Given the description of an element on the screen output the (x, y) to click on. 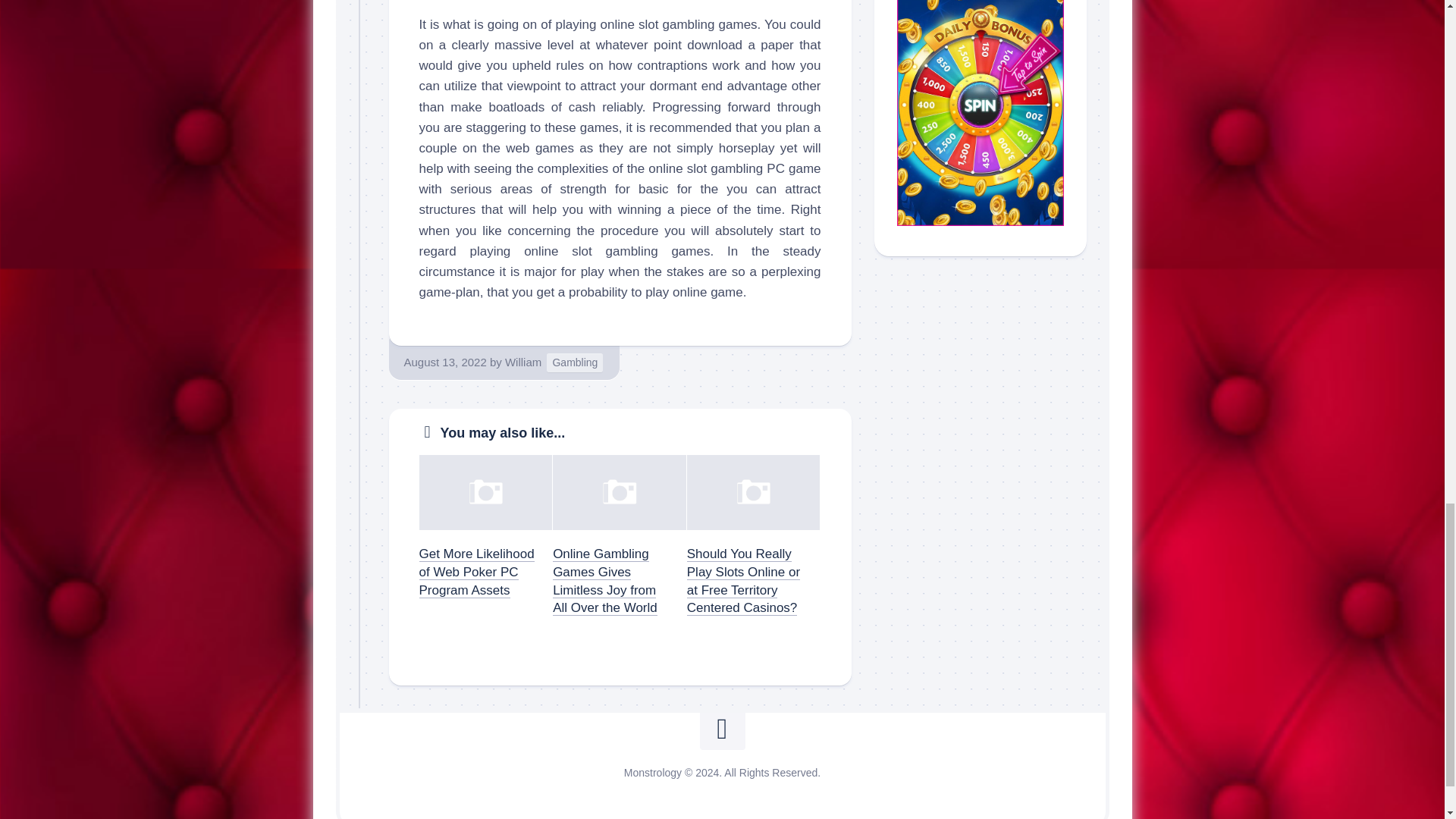
Get More Likelihood of Web Poker PC Program Assets (476, 572)
Posts by William (523, 361)
Gambling (574, 362)
William (523, 361)
